Given the description of an element on the screen output the (x, y) to click on. 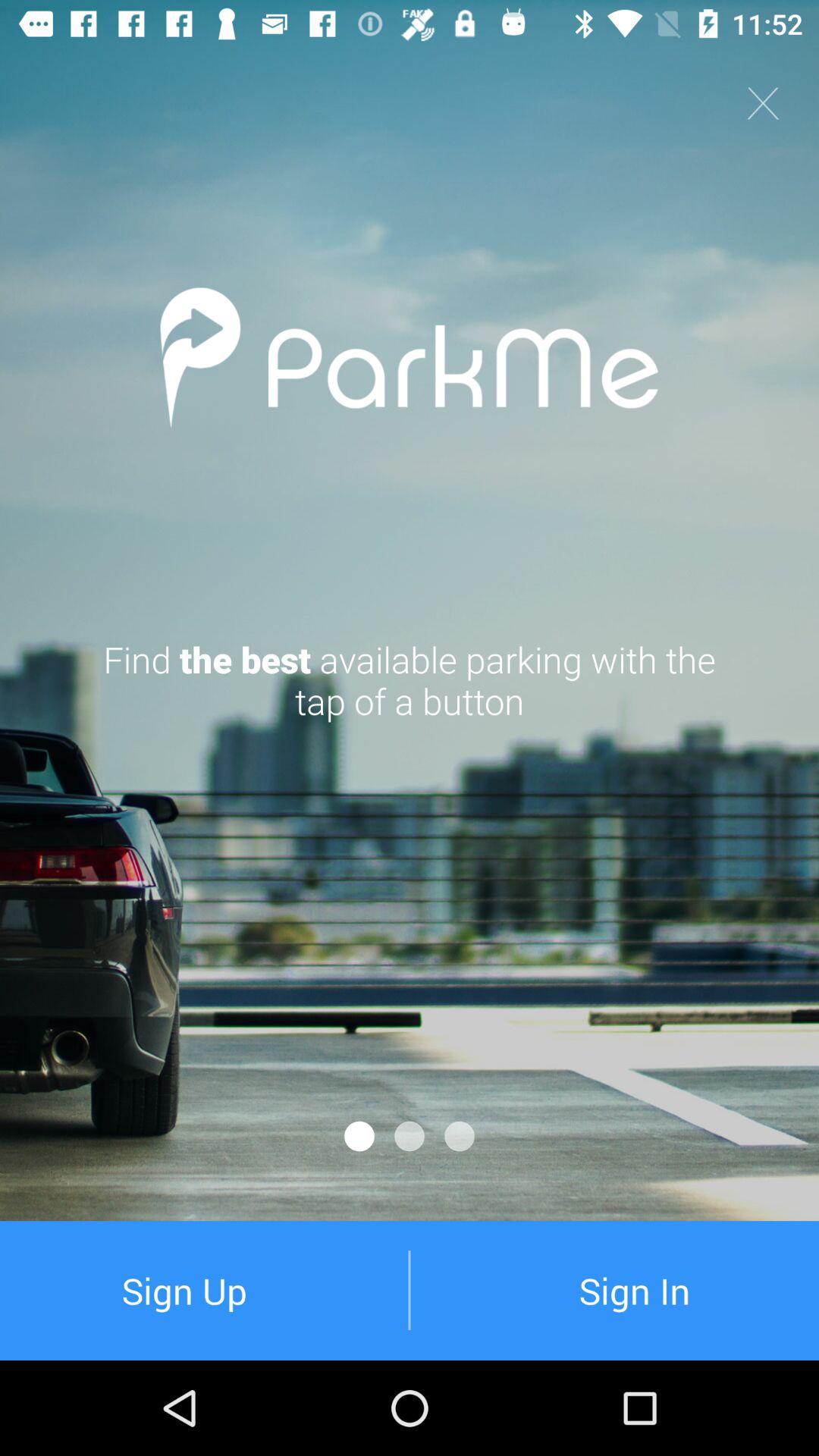
close menu (763, 103)
